Given the description of an element on the screen output the (x, y) to click on. 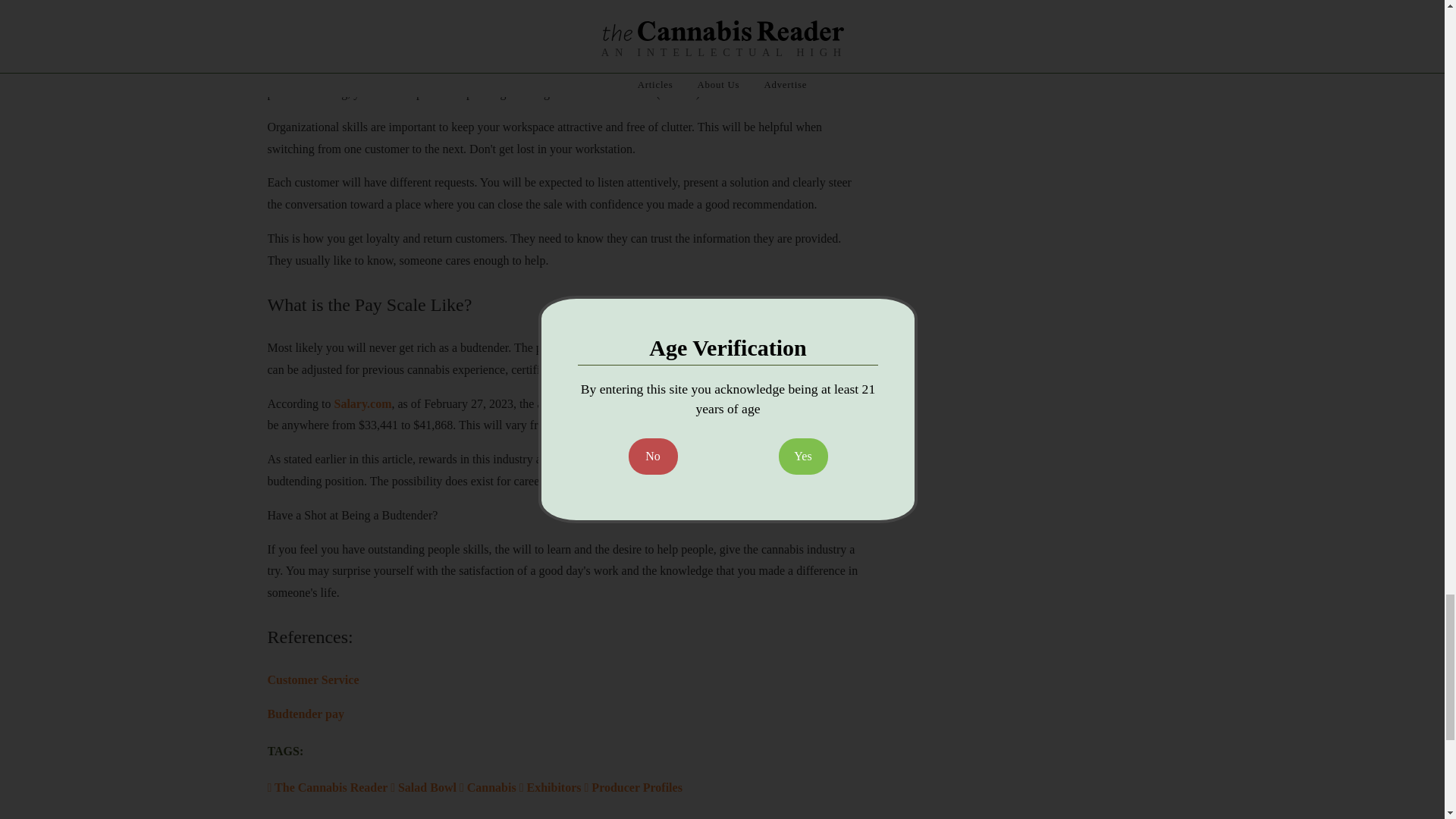
Exhibitors (548, 787)
Visit Salary Homepage (362, 403)
Visit Budtender Pay Homepage (304, 713)
Visit Sales Force Homepage (312, 679)
Customer Service (312, 679)
Budtender pay (304, 713)
Cannabis (486, 787)
Salad Bowl (423, 787)
The Cannabis Reader (328, 787)
Salary.com (362, 403)
Producer Profiles (631, 787)
